Given the description of an element on the screen output the (x, y) to click on. 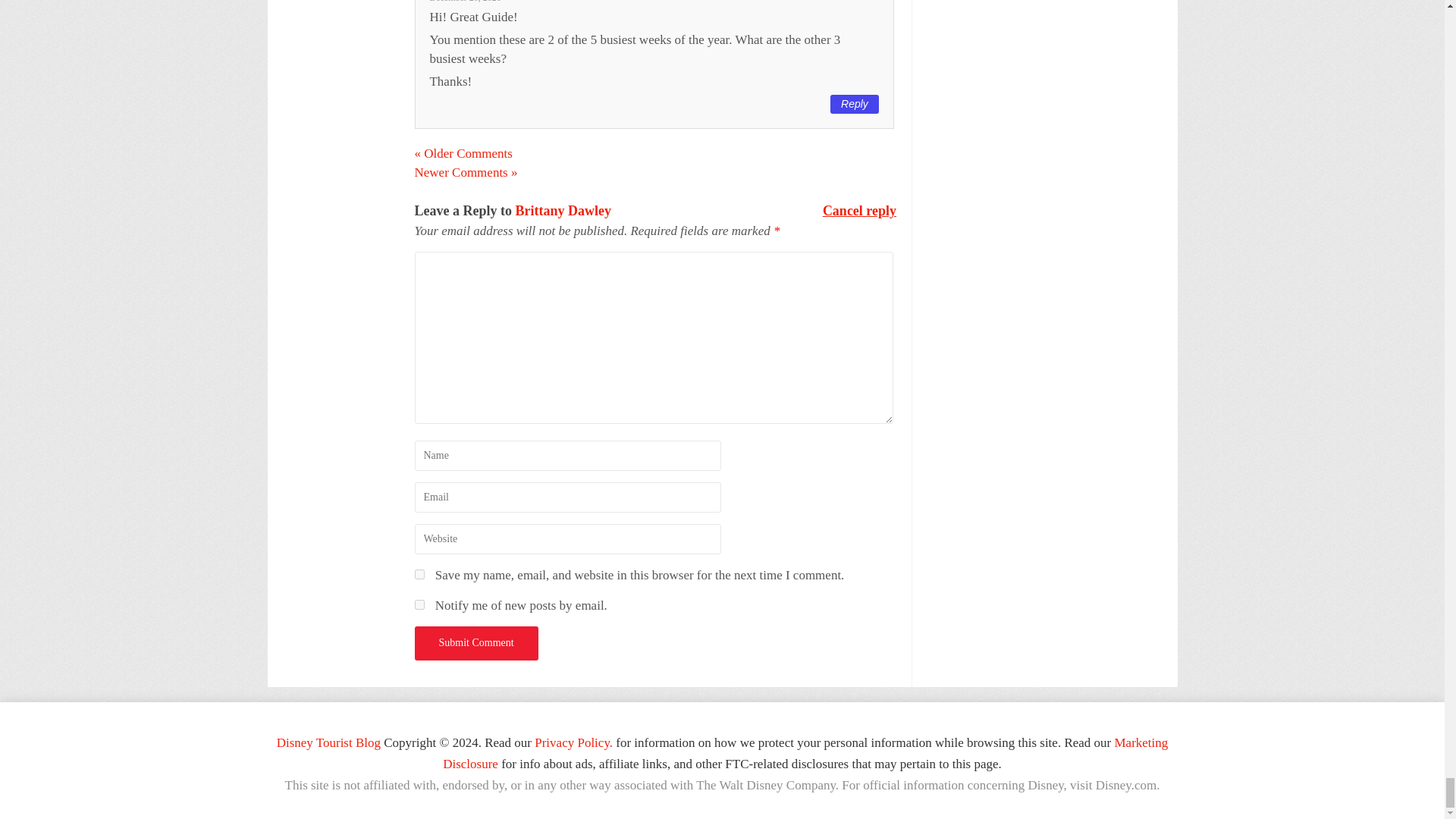
Submit Comment (475, 643)
subscribe (418, 604)
yes (418, 574)
